Given the description of an element on the screen output the (x, y) to click on. 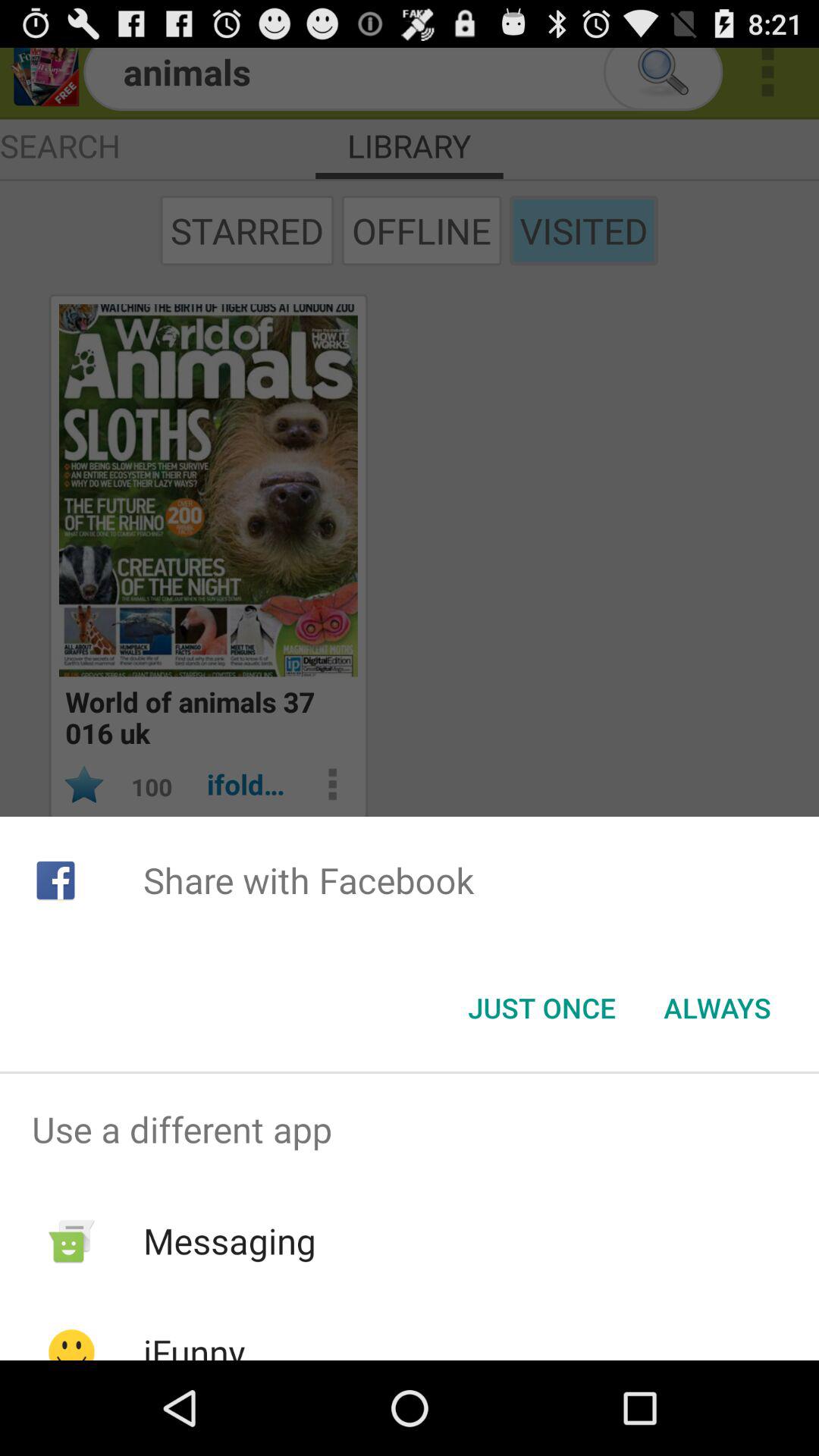
open just once (541, 1007)
